Given the description of an element on the screen output the (x, y) to click on. 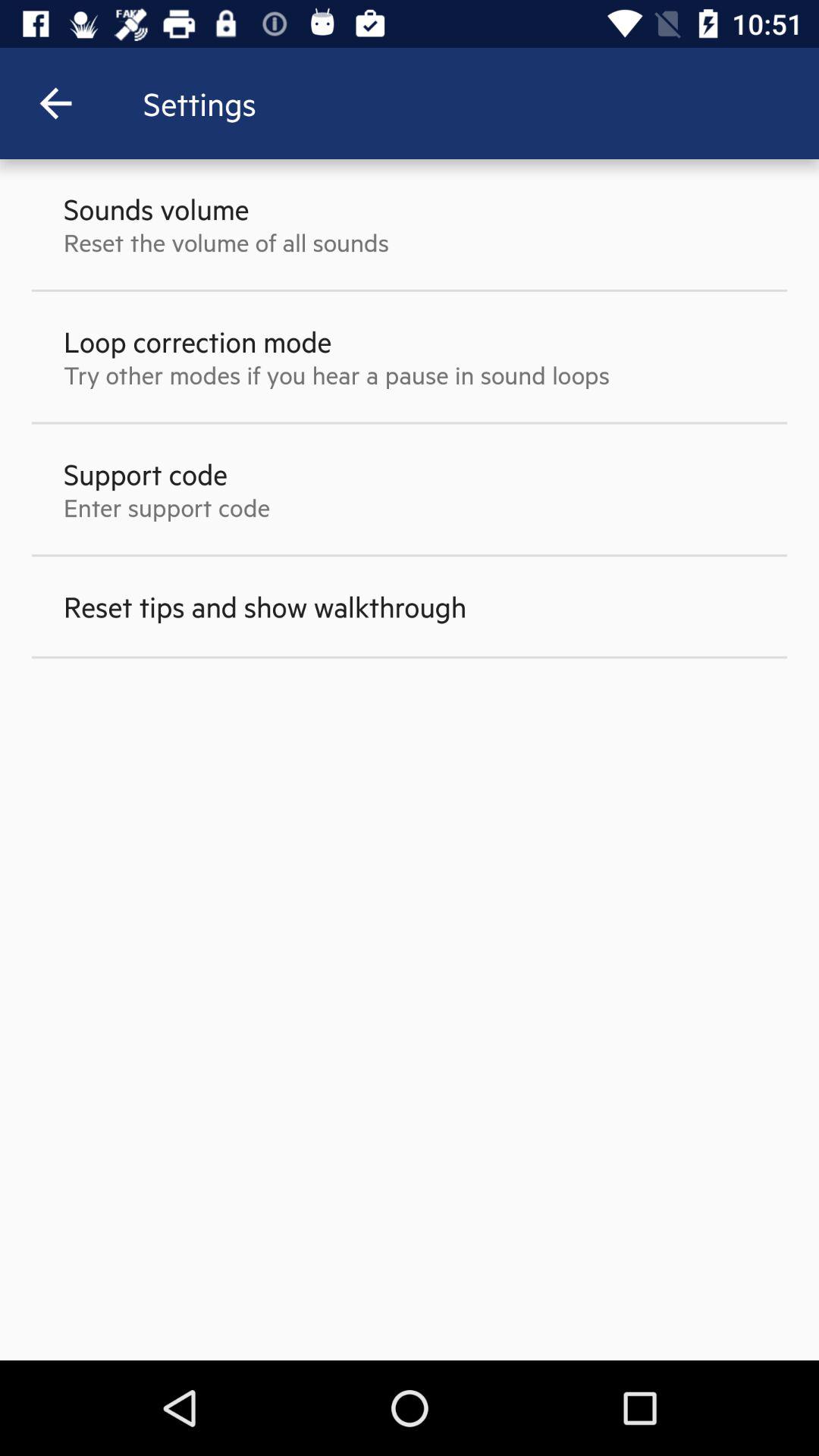
tap the item below reset the volume item (197, 341)
